Given the description of an element on the screen output the (x, y) to click on. 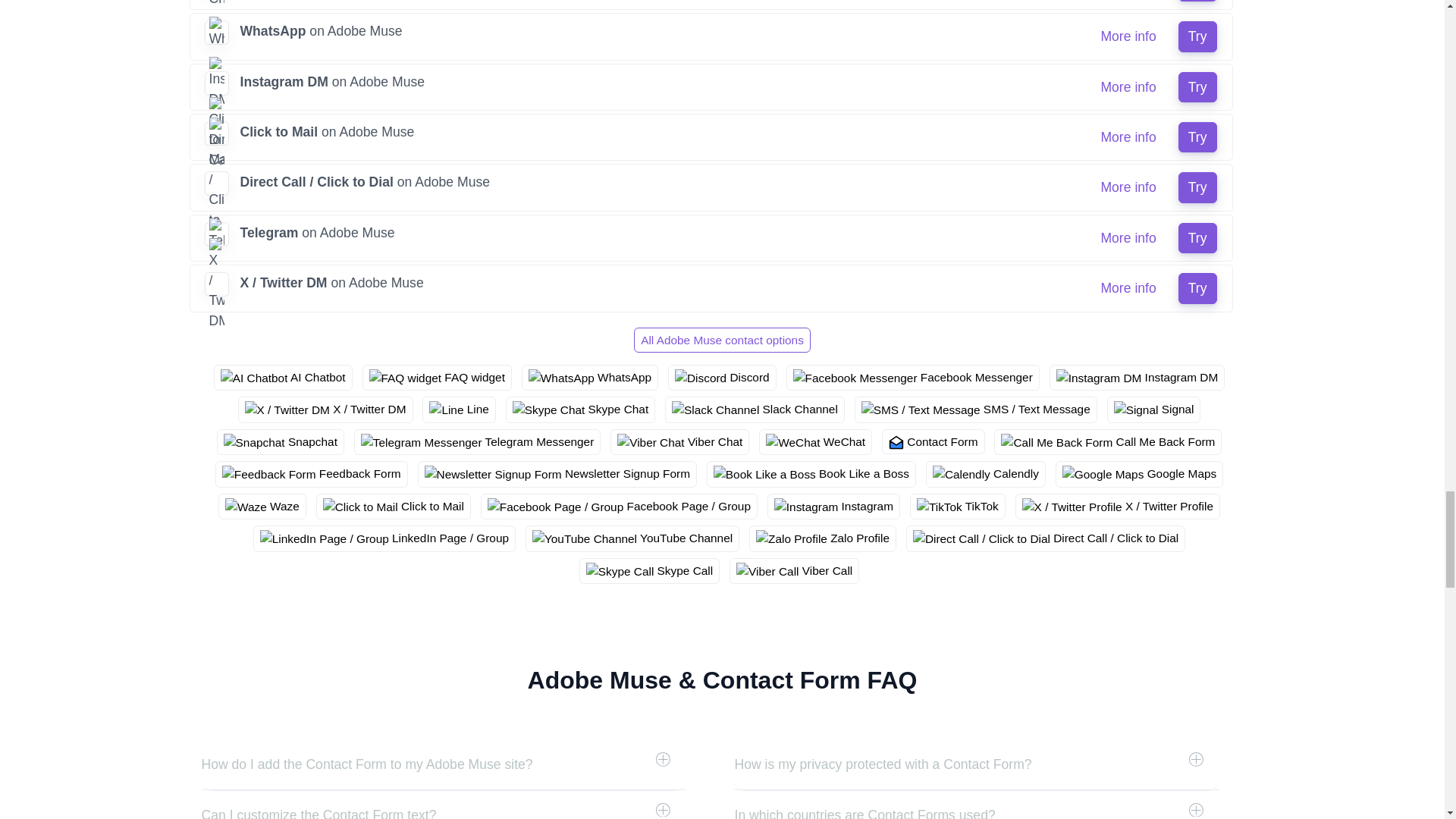
Try (1197, 137)
More info (1128, 186)
Try (1197, 186)
Try (1197, 0)
More info (1128, 36)
Try (1197, 87)
More info (1128, 0)
Try (1197, 36)
More info (1128, 137)
More info (1128, 87)
